Given the description of an element on the screen output the (x, y) to click on. 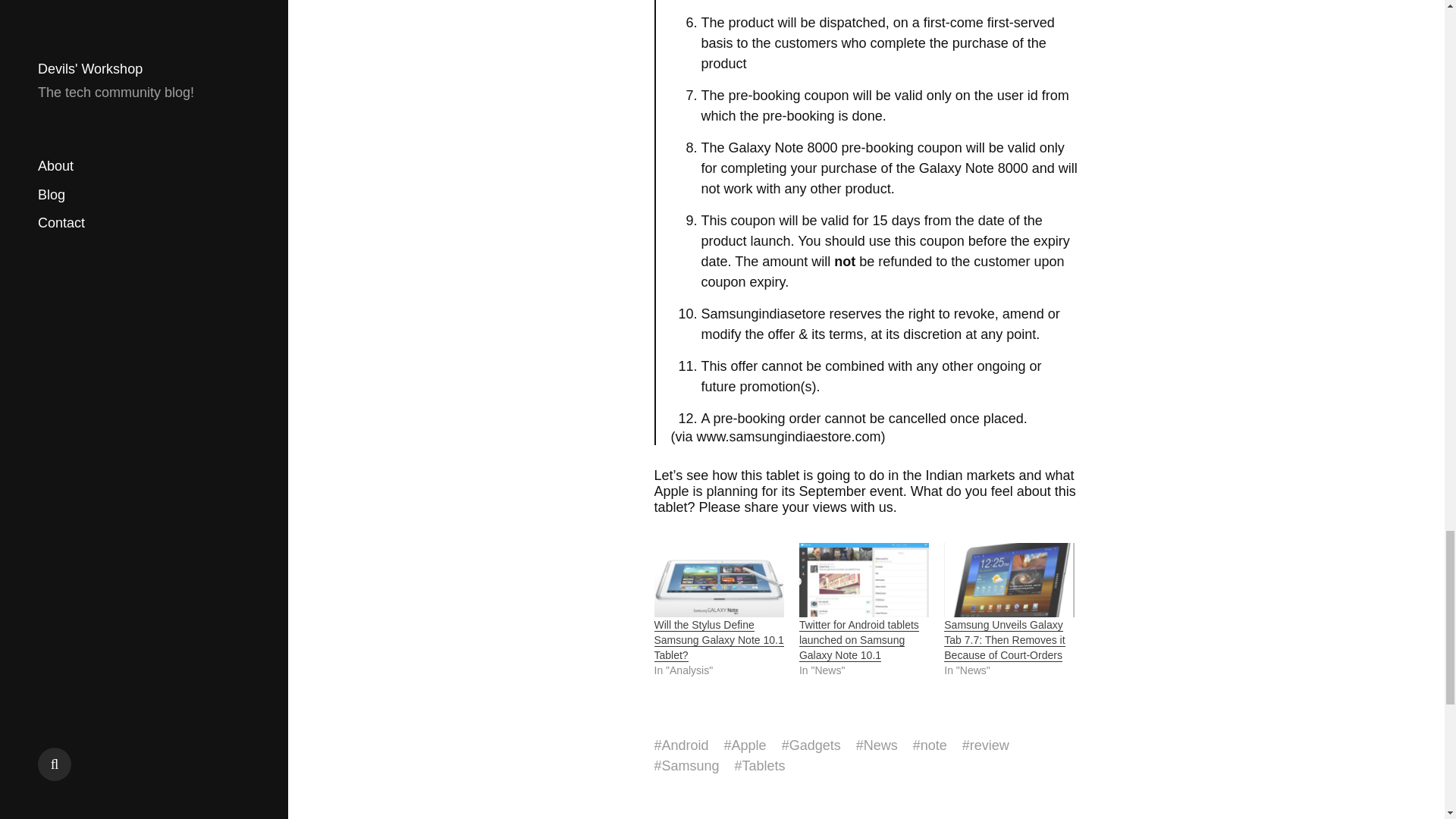
Apple (749, 745)
Android (685, 745)
review (989, 745)
note (933, 745)
News (880, 745)
Will the Stylus Define Samsung Galaxy Note 10.1 Tablet? (718, 640)
